Given the description of an element on the screen output the (x, y) to click on. 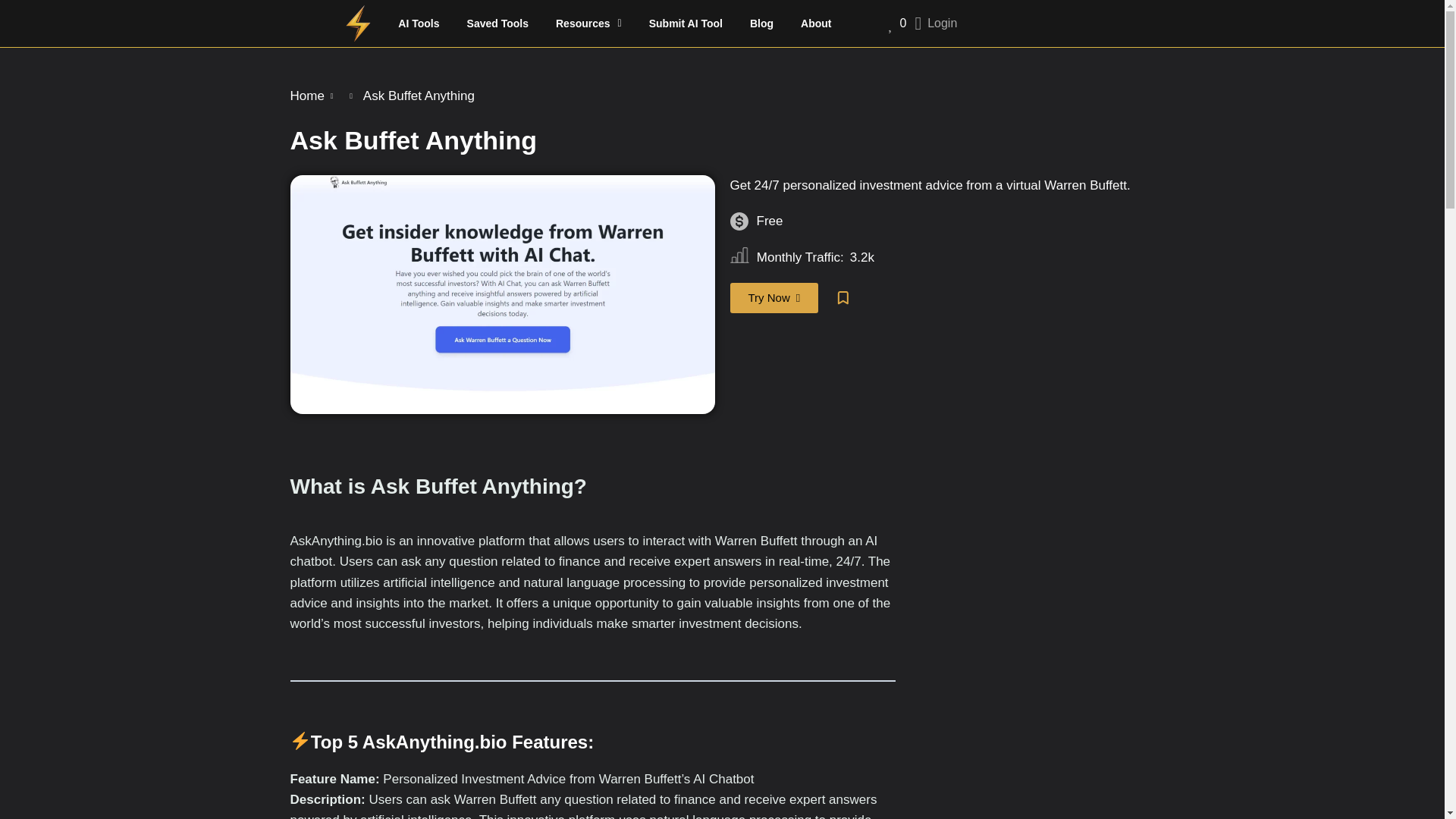
ask-buffet-anything (773, 297)
Blog (761, 22)
About (815, 22)
Resources (587, 22)
Saved Tools (496, 22)
0 (887, 23)
AI Tools (418, 22)
Login (935, 23)
ask-buffet-anything (501, 294)
Home (306, 95)
Submit AI Tool (685, 22)
